Given the description of an element on the screen output the (x, y) to click on. 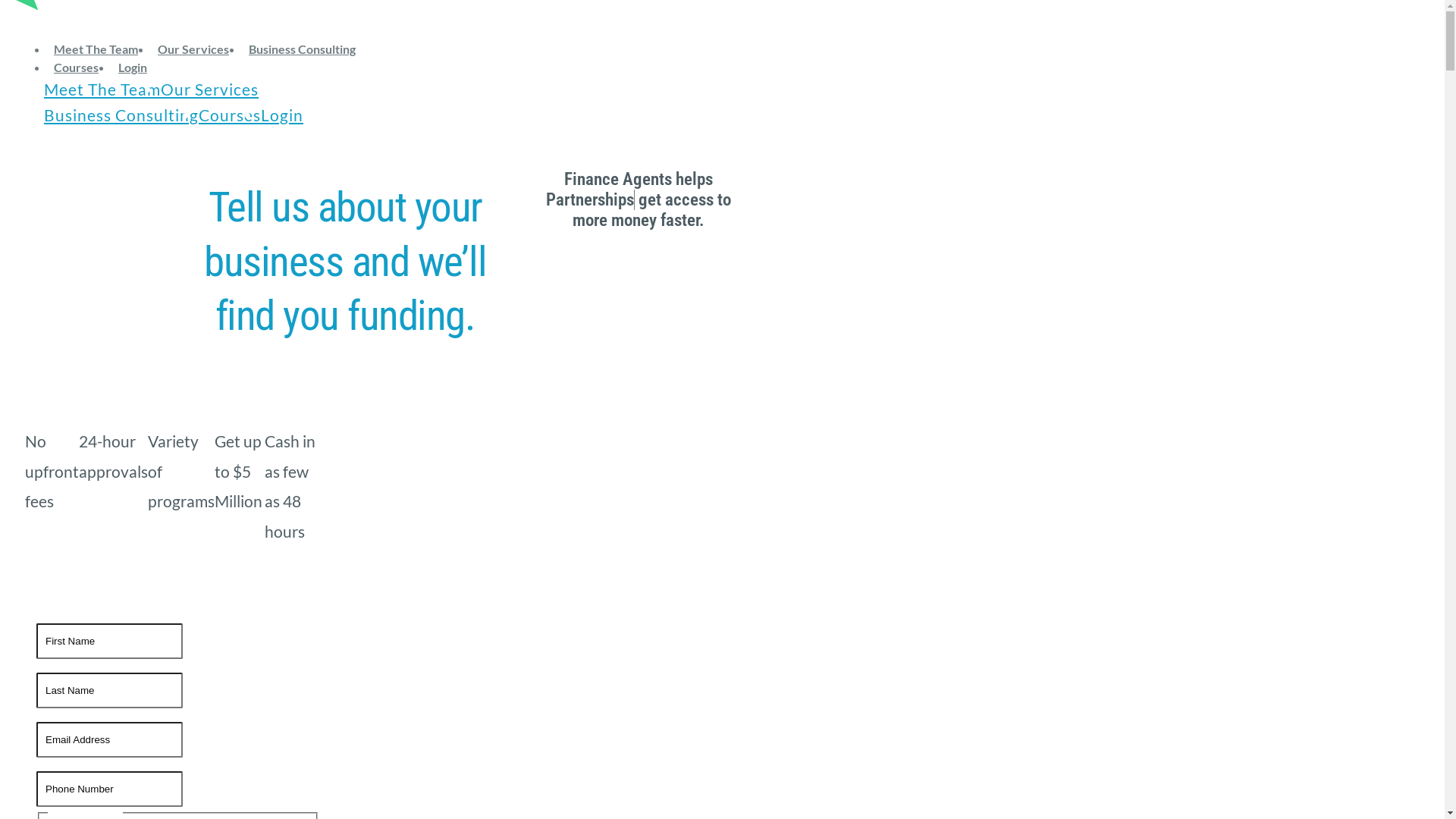
Courses Element type: text (75, 66)
Courses Element type: text (229, 114)
Login Element type: text (132, 66)
Business Consulting Element type: text (120, 114)
Meet The Team Element type: text (95, 48)
Meet The Team Element type: text (101, 88)
Our Services Element type: text (209, 88)
Business Consulting Element type: text (301, 48)
Login Element type: text (281, 114)
Our Services Element type: text (193, 48)
